Given the description of an element on the screen output the (x, y) to click on. 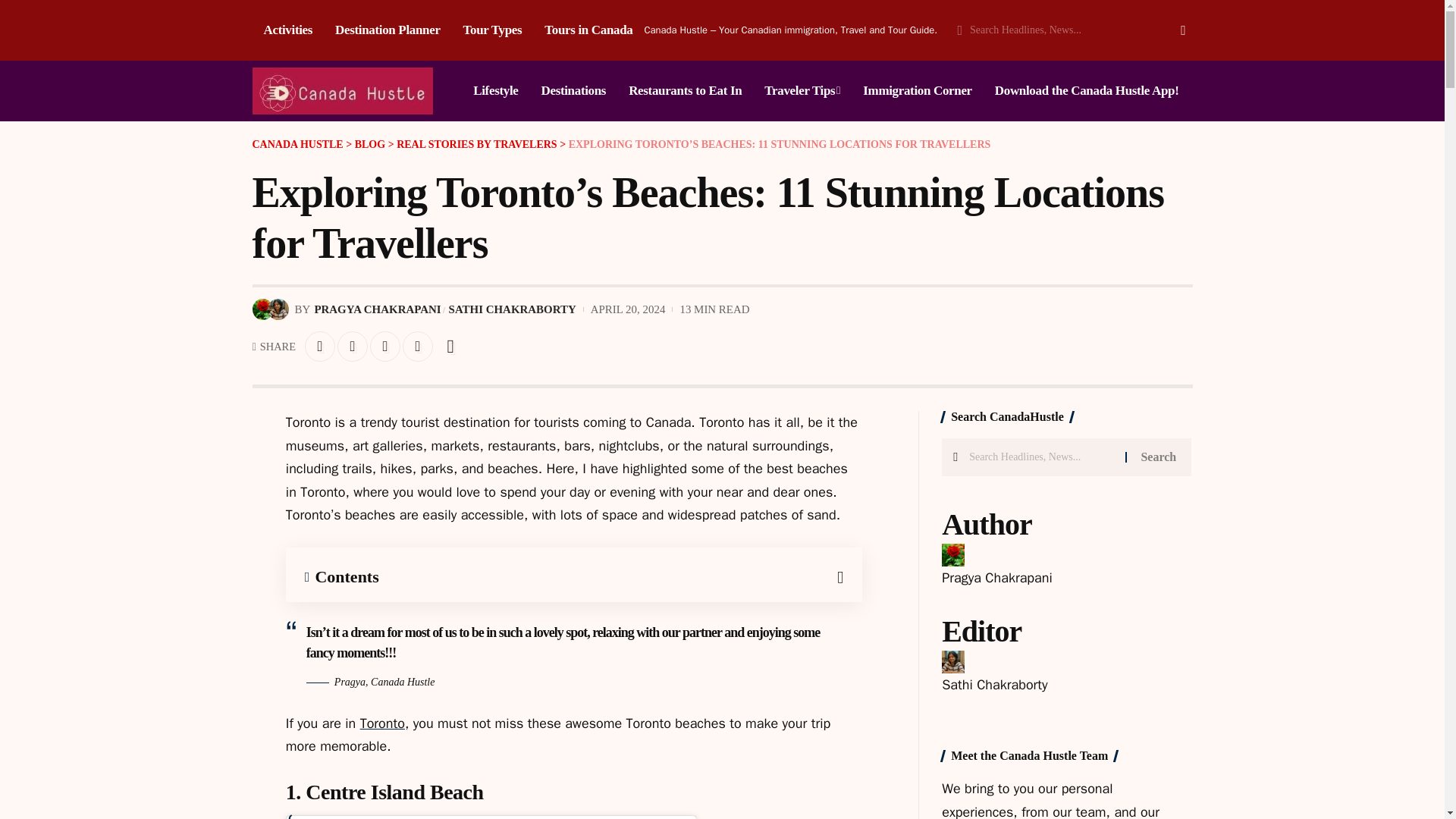
Pragya Chakrapani (997, 577)
Traveler Tips (801, 90)
PRAGYA CHAKRAPANI (377, 309)
Search (1168, 30)
Search (1158, 456)
Go to Blog. (370, 143)
Go to the Real Stories by Travelers Category archives. (476, 143)
Tour Types (492, 30)
Tours in Canada (587, 30)
Restaurants to Eat In (684, 90)
Sathi Chakraborty (994, 684)
BLOG (370, 143)
Go to Canada Hustle. (296, 143)
Lifestyle (495, 90)
SATHI CHAKRABORTY (512, 309)
